Given the description of an element on the screen output the (x, y) to click on. 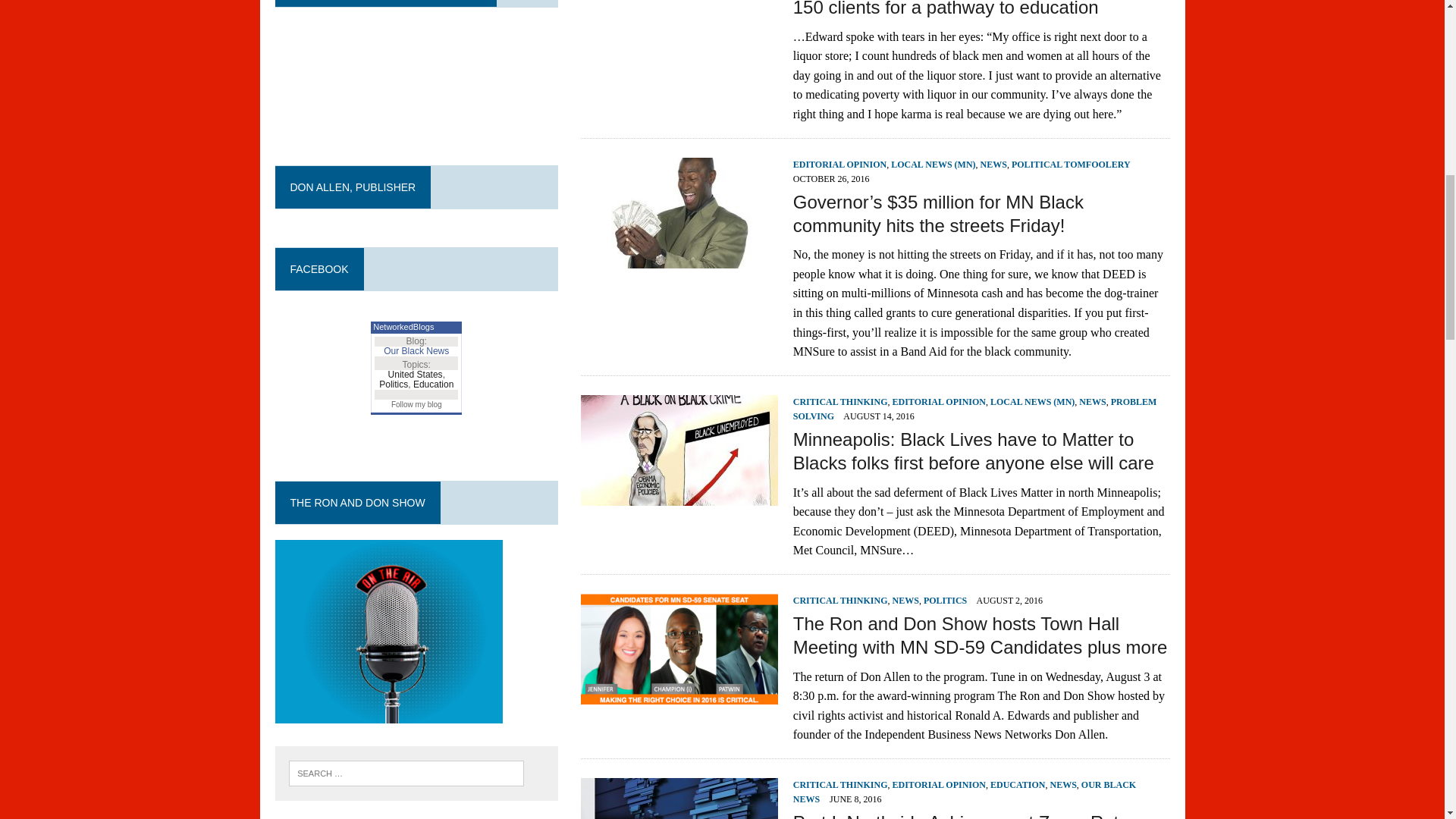
NEWS (993, 163)
CRITICAL THINKING (840, 401)
POLITICAL TOMFOOLERY (1071, 163)
EDITORIAL OPINION (938, 401)
EDITORIAL OPINION (839, 163)
